Given the description of an element on the screen output the (x, y) to click on. 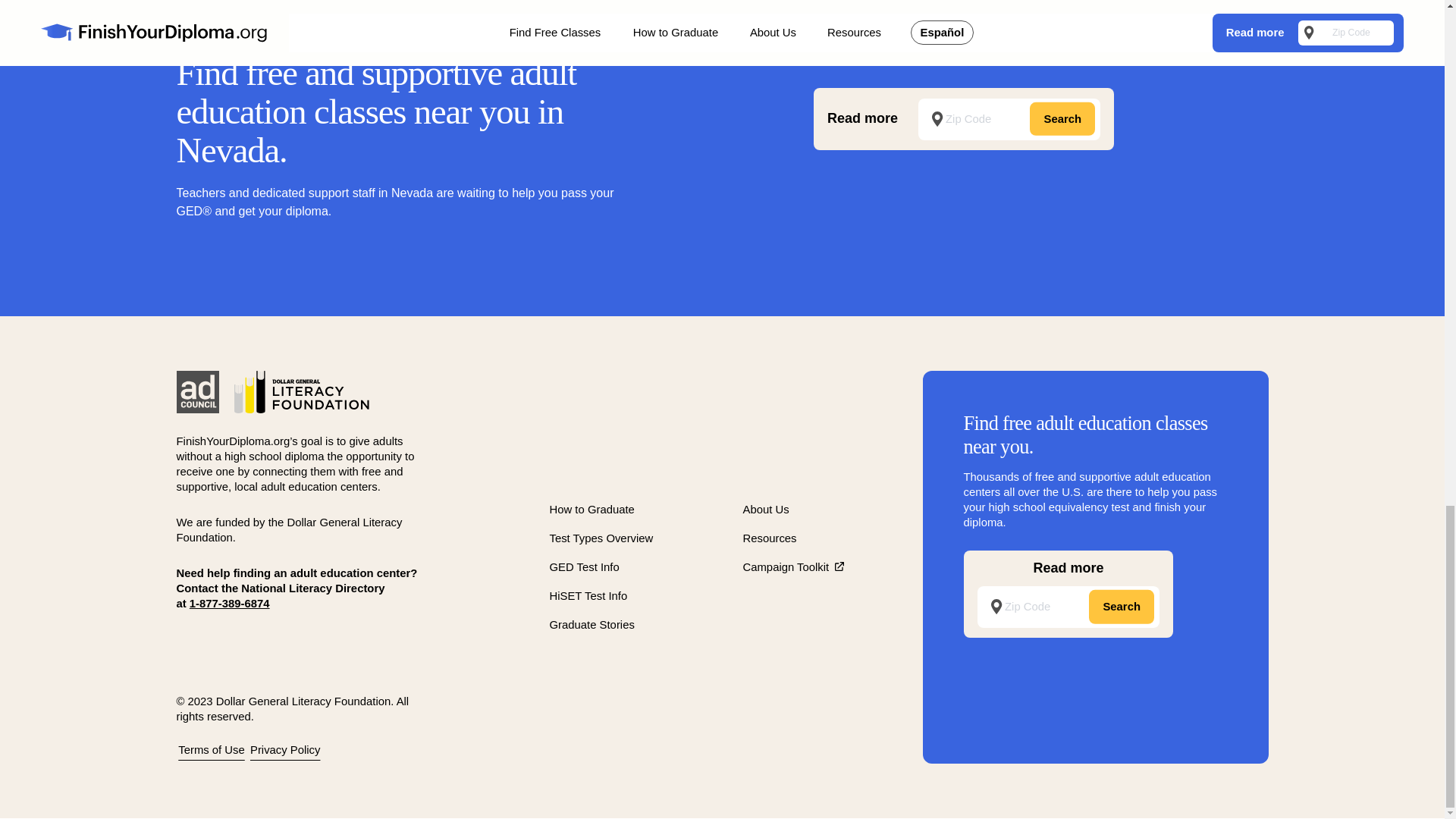
Graduate Stories (590, 624)
1-877-389-6874 (229, 603)
Please enter a 5-digit numeric ZIP code. (1009, 119)
Please enter a 5-digit numeric ZIP code. (1067, 607)
Search (1061, 118)
Terms of Use (211, 749)
Dollar General Literacy Foundation. (288, 529)
About Us (765, 509)
HiSET Test Info (587, 595)
How to Graduate (590, 509)
Test Types Overview (600, 538)
Resources (769, 538)
Campaign Toolkit (793, 566)
Search (1121, 606)
Search (1061, 118)
